Given the description of an element on the screen output the (x, y) to click on. 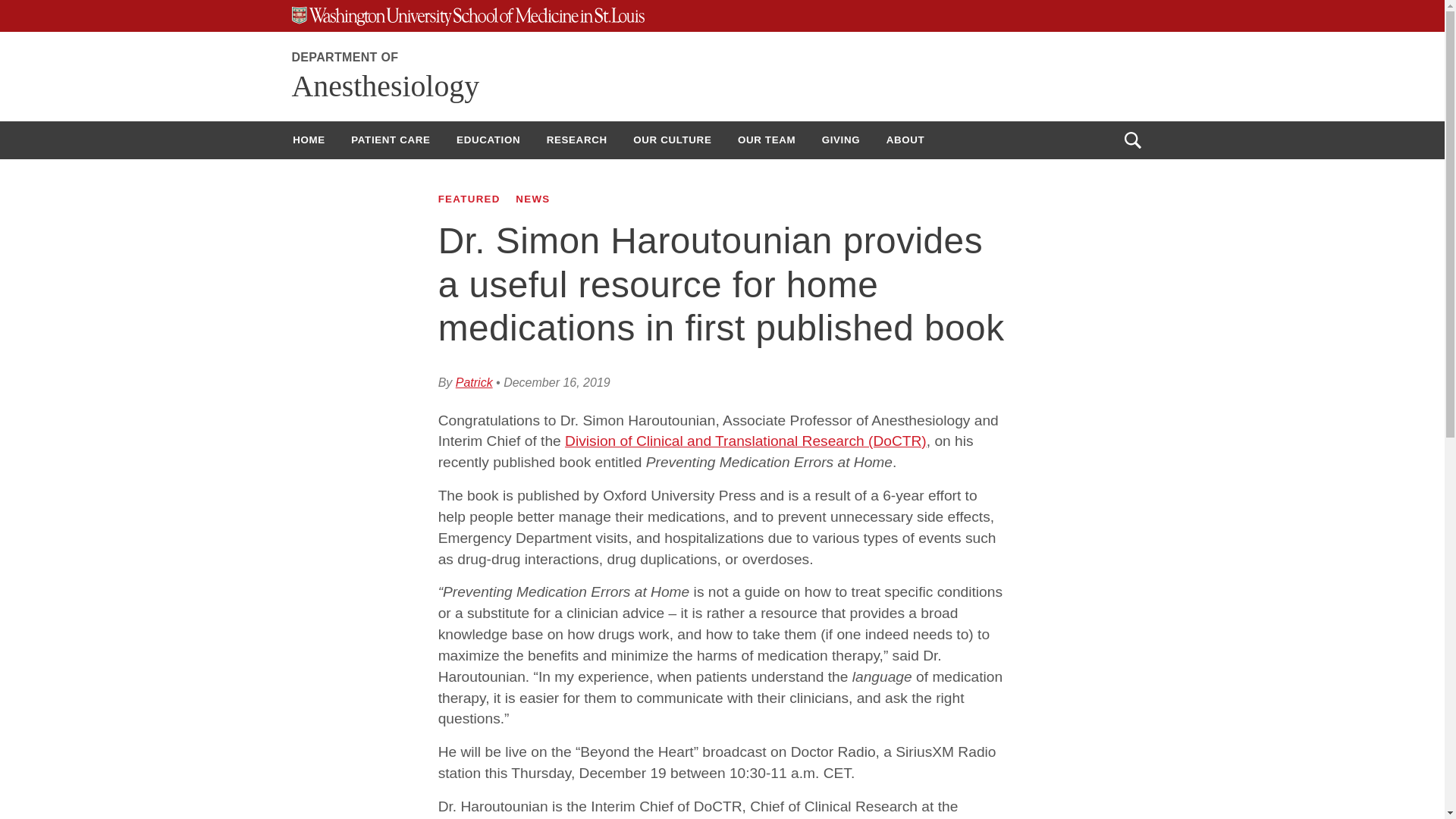
PATIENT CARE (390, 139)
Anesthesiology (385, 86)
HOME (308, 139)
